Given the description of an element on the screen output the (x, y) to click on. 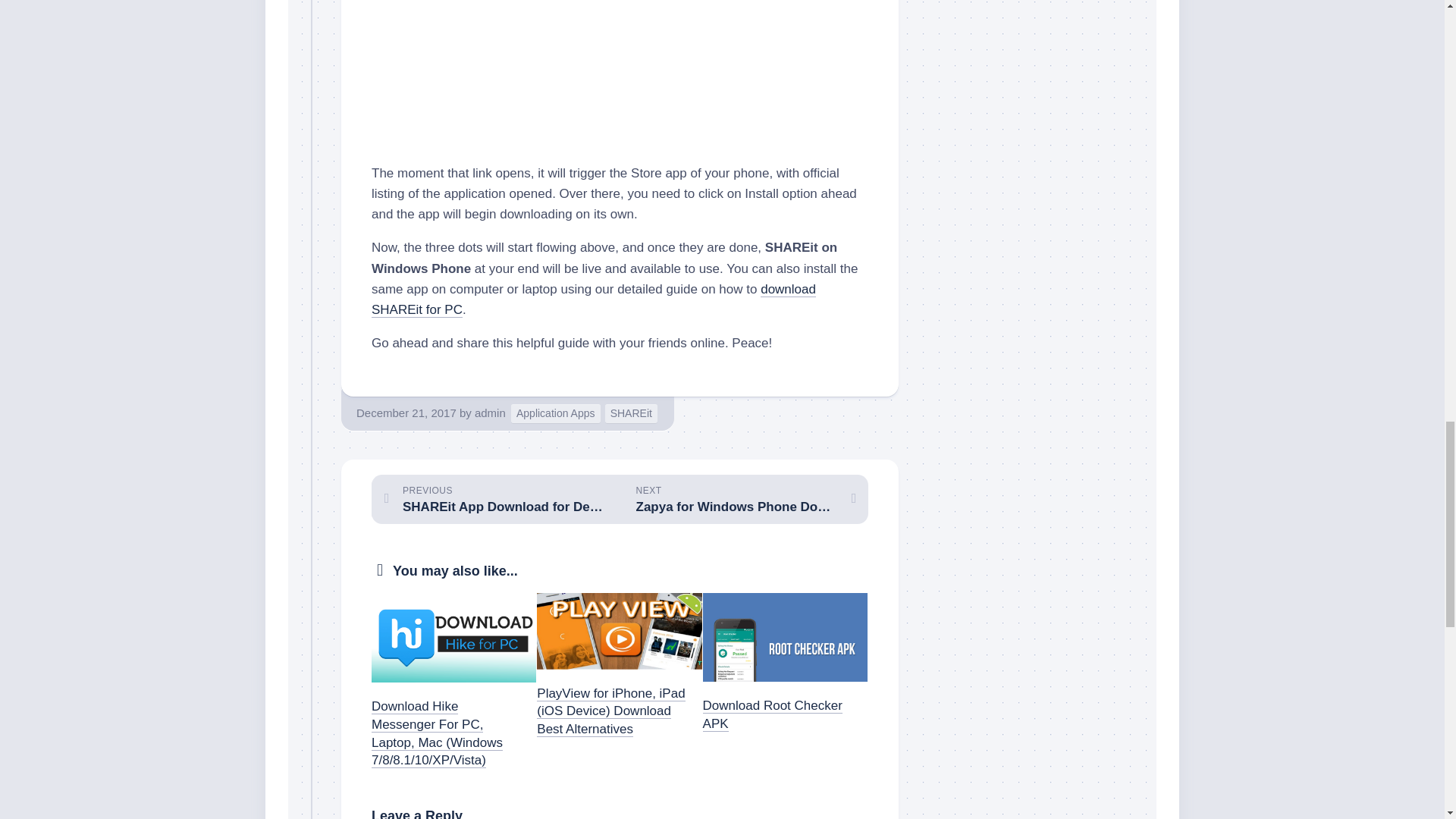
Posts by admin (489, 412)
download SHAREit for PC (593, 298)
admin (495, 499)
Application Apps (489, 412)
SHAREit (555, 413)
